Given the description of an element on the screen output the (x, y) to click on. 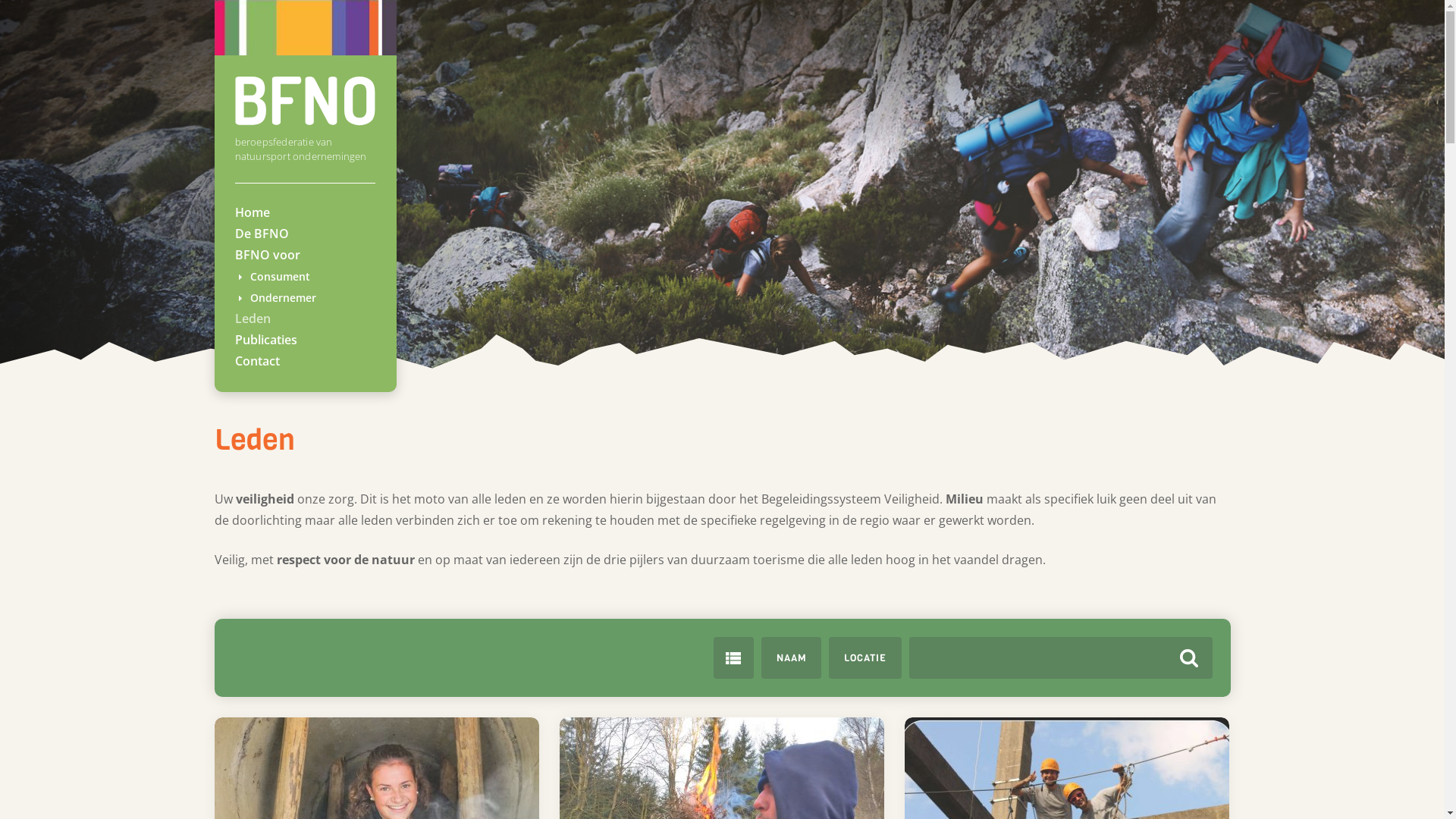
Ondernemer Element type: text (283, 297)
De BFNO Element type: text (261, 233)
LOCATIE Element type: text (864, 657)
BFNO voor Element type: text (267, 254)
NAAM Element type: text (791, 657)
  Element type: text (732, 657)
Leden Element type: text (252, 318)
Contact Element type: text (257, 360)
Home Element type: text (252, 211)
Consument Element type: text (280, 276)
Publicaties Element type: text (266, 339)
